Given the description of an element on the screen output the (x, y) to click on. 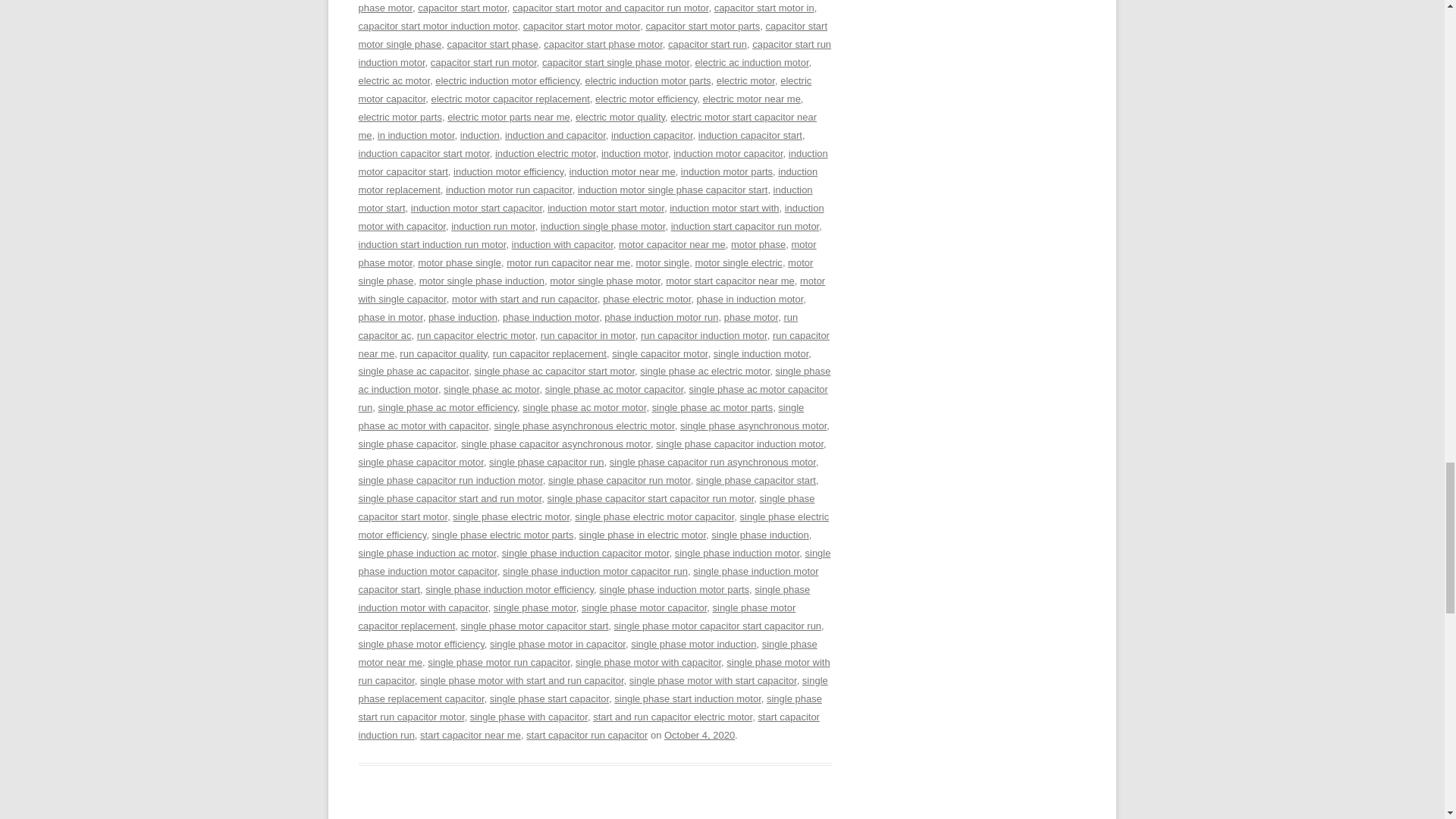
11:03 am (699, 735)
